Given the description of an element on the screen output the (x, y) to click on. 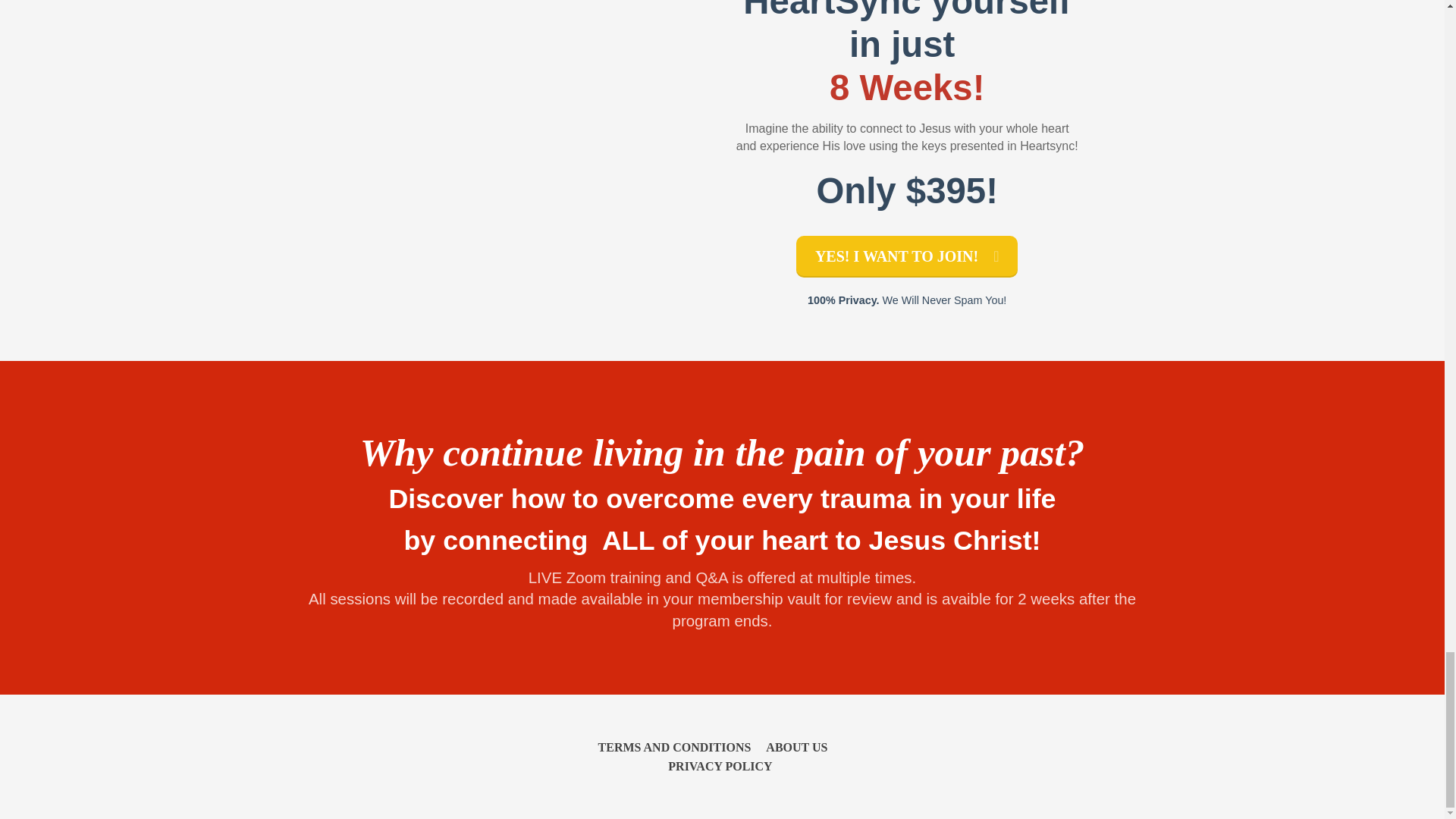
ABOUT US (796, 747)
TERMS AND CONDITIONS (678, 747)
PRIVACY POLICY (716, 766)
YES! I WANT TO JOIN! (906, 256)
